Given the description of an element on the screen output the (x, y) to click on. 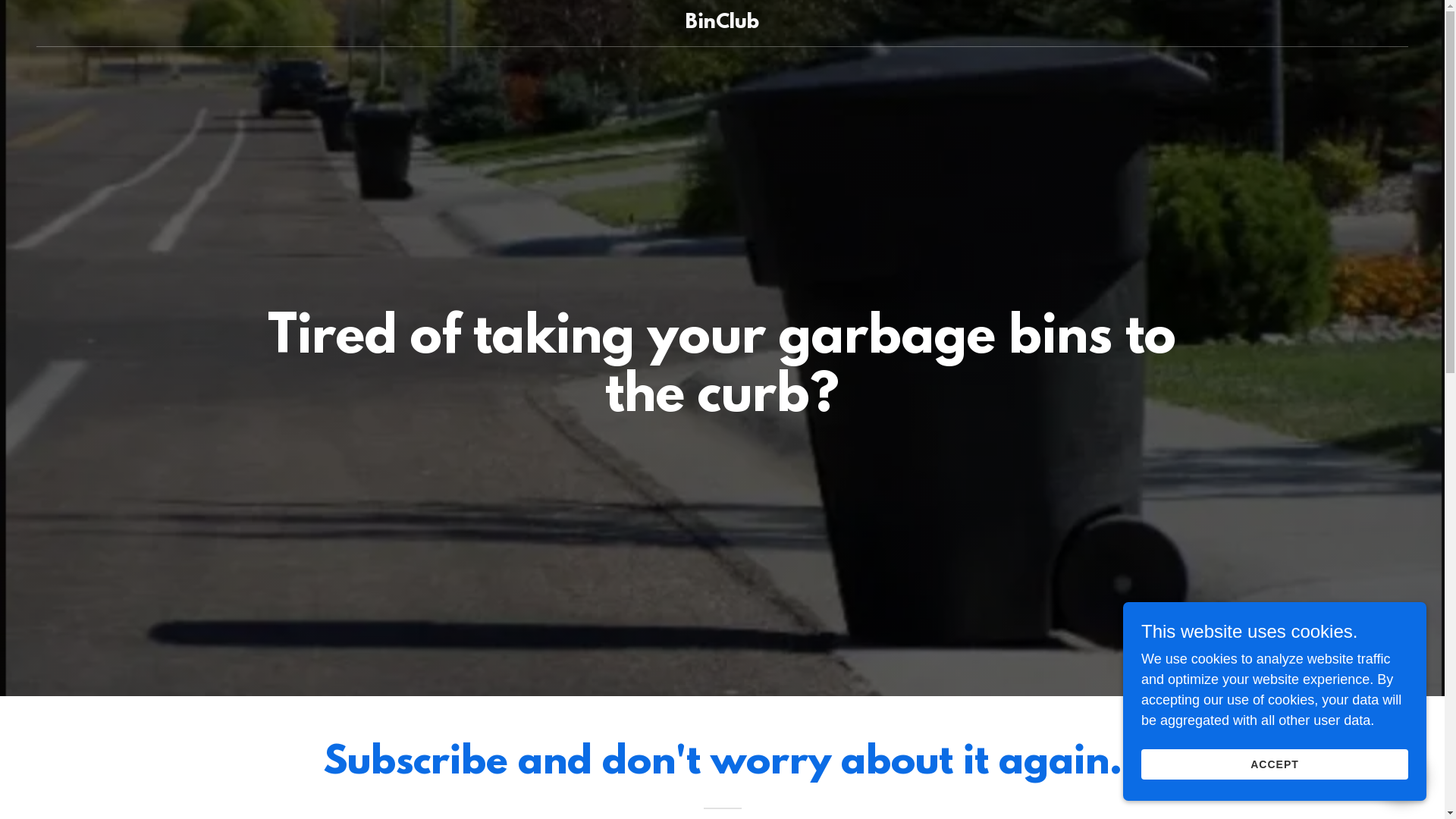
BinClub Element type: text (721, 23)
ACCEPT Element type: text (1274, 764)
